Given the description of an element on the screen output the (x, y) to click on. 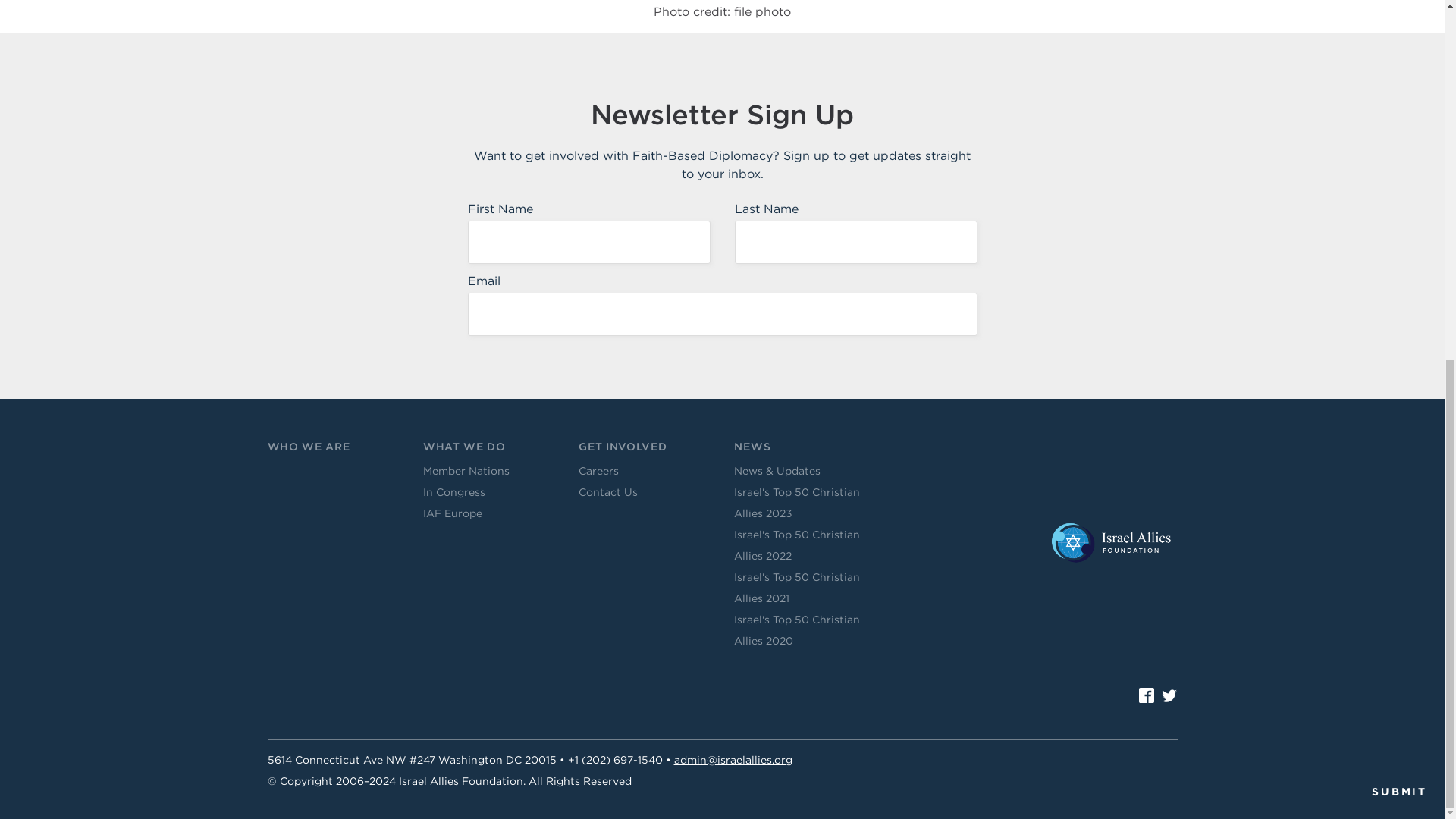
Twitter (1168, 694)
Facebook (1146, 694)
